Given the description of an element on the screen output the (x, y) to click on. 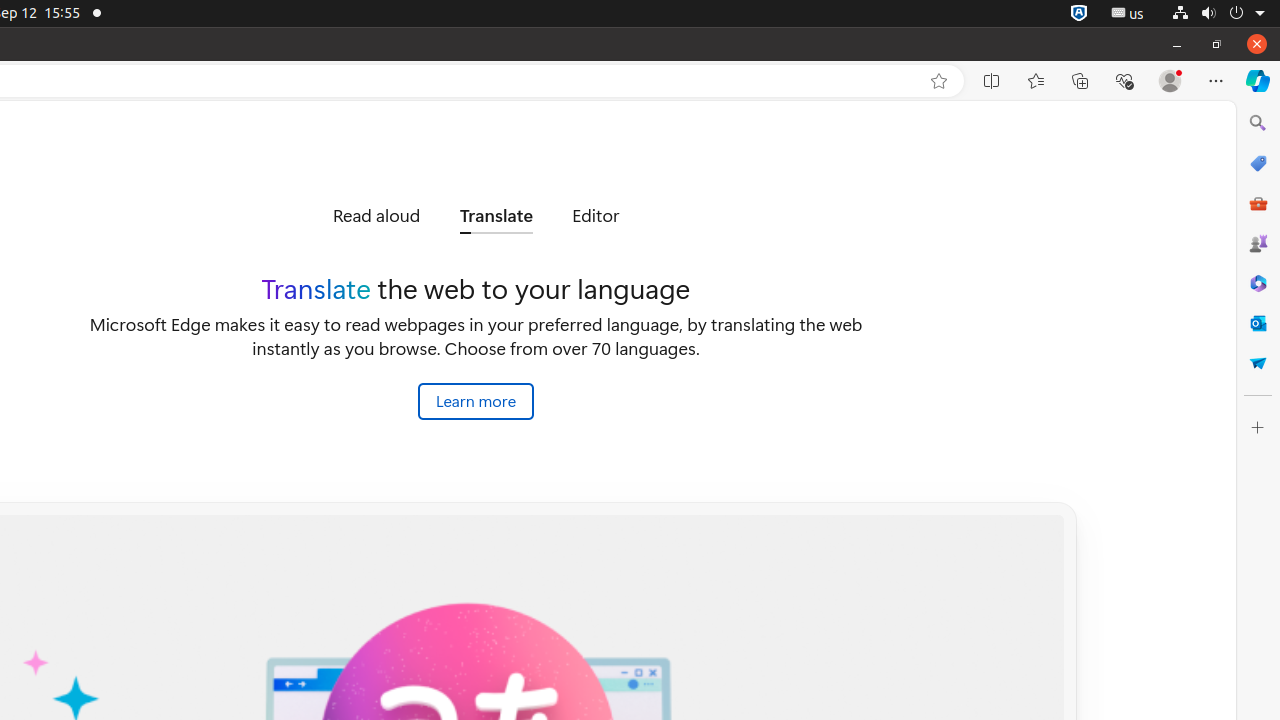
Profile 1 Profile, Please sign in Element type: push-button (1170, 81)
Translate Translate Element type: push-button (496, 216)
Games Element type: push-button (1258, 243)
